Given the description of an element on the screen output the (x, y) to click on. 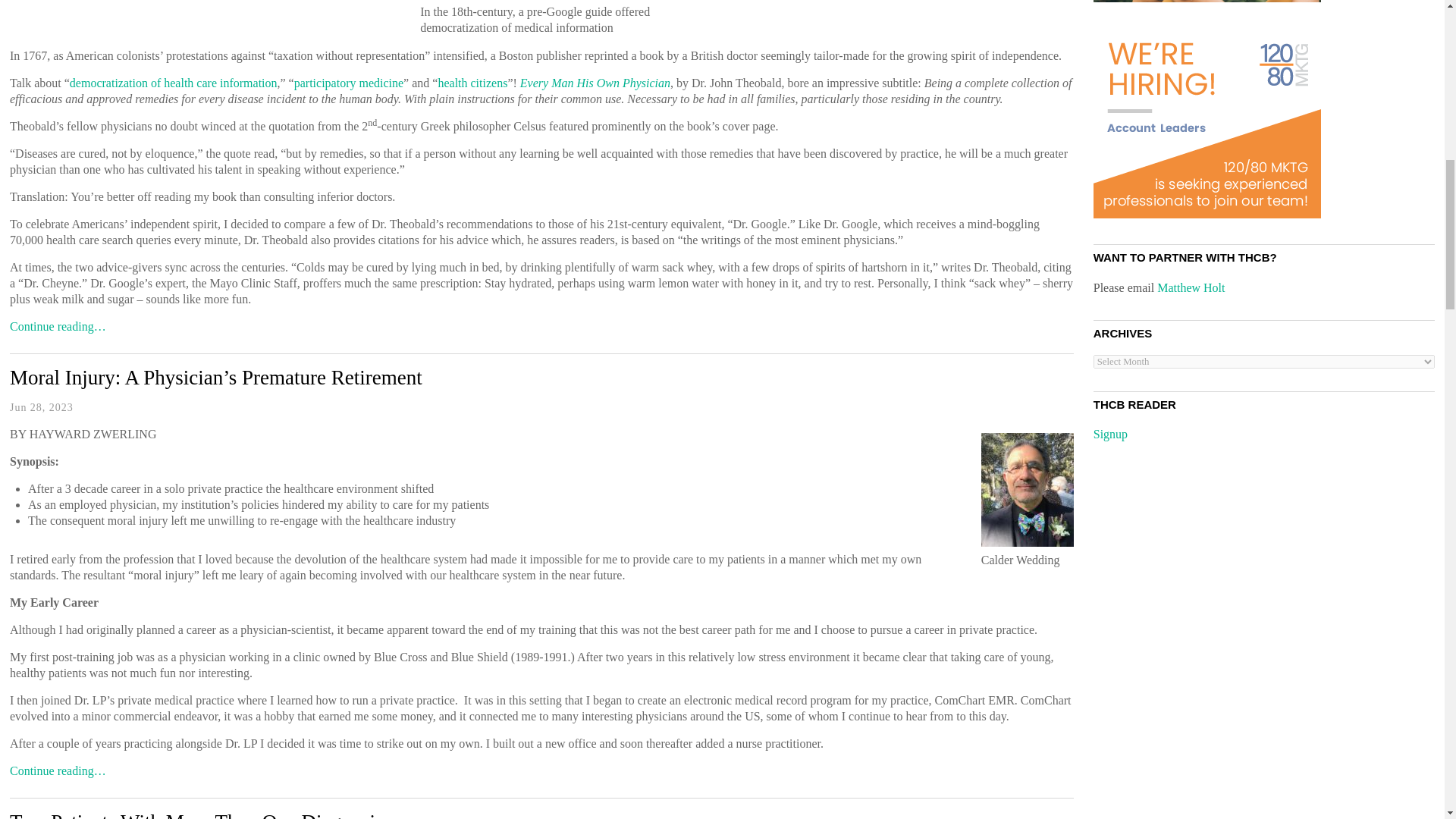
Every Man His Own Physician (594, 82)
democratization of health care information (173, 82)
health citizens (472, 82)
Two Patients With More Than One Diagnosis (196, 814)
participatory medicine (348, 82)
